Given the description of an element on the screen output the (x, y) to click on. 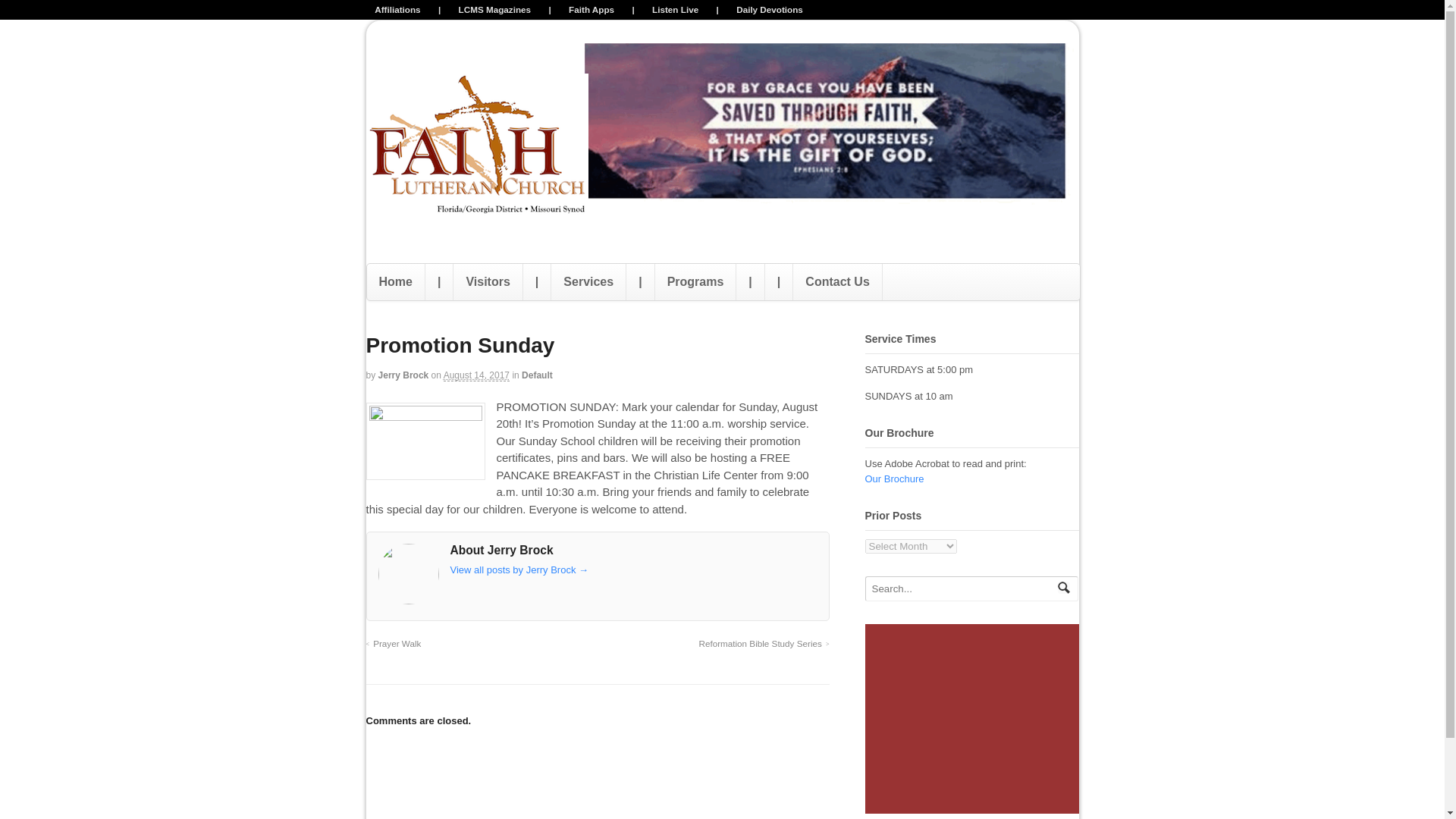
LCMS Magazines (494, 9)
Visitors (486, 281)
Faith Apps (591, 9)
Faith For The Whole Family. (476, 216)
Services (588, 281)
Home (395, 281)
Affiliations (397, 9)
Listen Live (674, 9)
2017-08-14T19:27:20-0400 (476, 375)
Daily Devotions (770, 9)
